Given the description of an element on the screen output the (x, y) to click on. 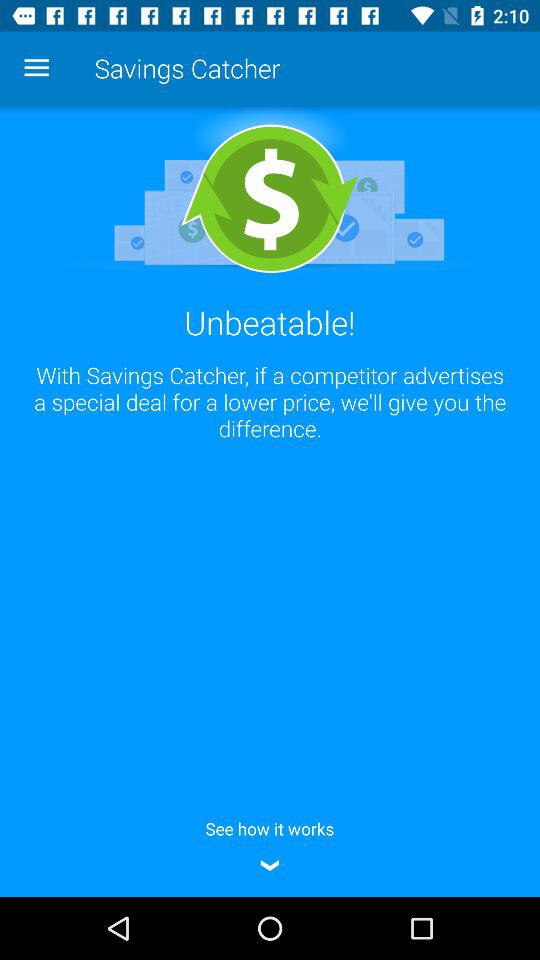
tap item to the left of savings catcher icon (36, 68)
